Given the description of an element on the screen output the (x, y) to click on. 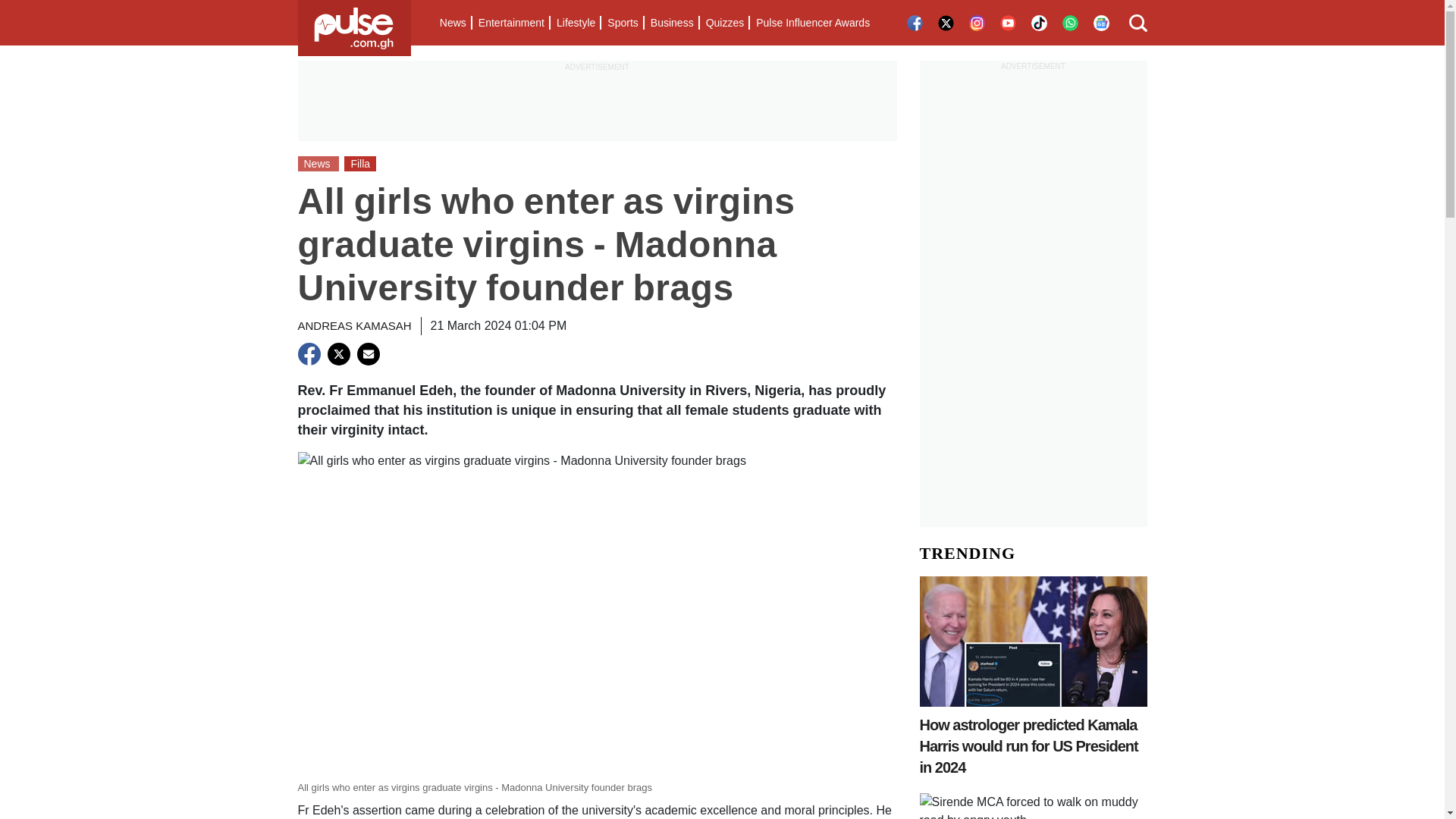
Business (672, 22)
Lifestyle (575, 22)
News (452, 22)
Sports (622, 22)
Entertainment (510, 22)
